Given the description of an element on the screen output the (x, y) to click on. 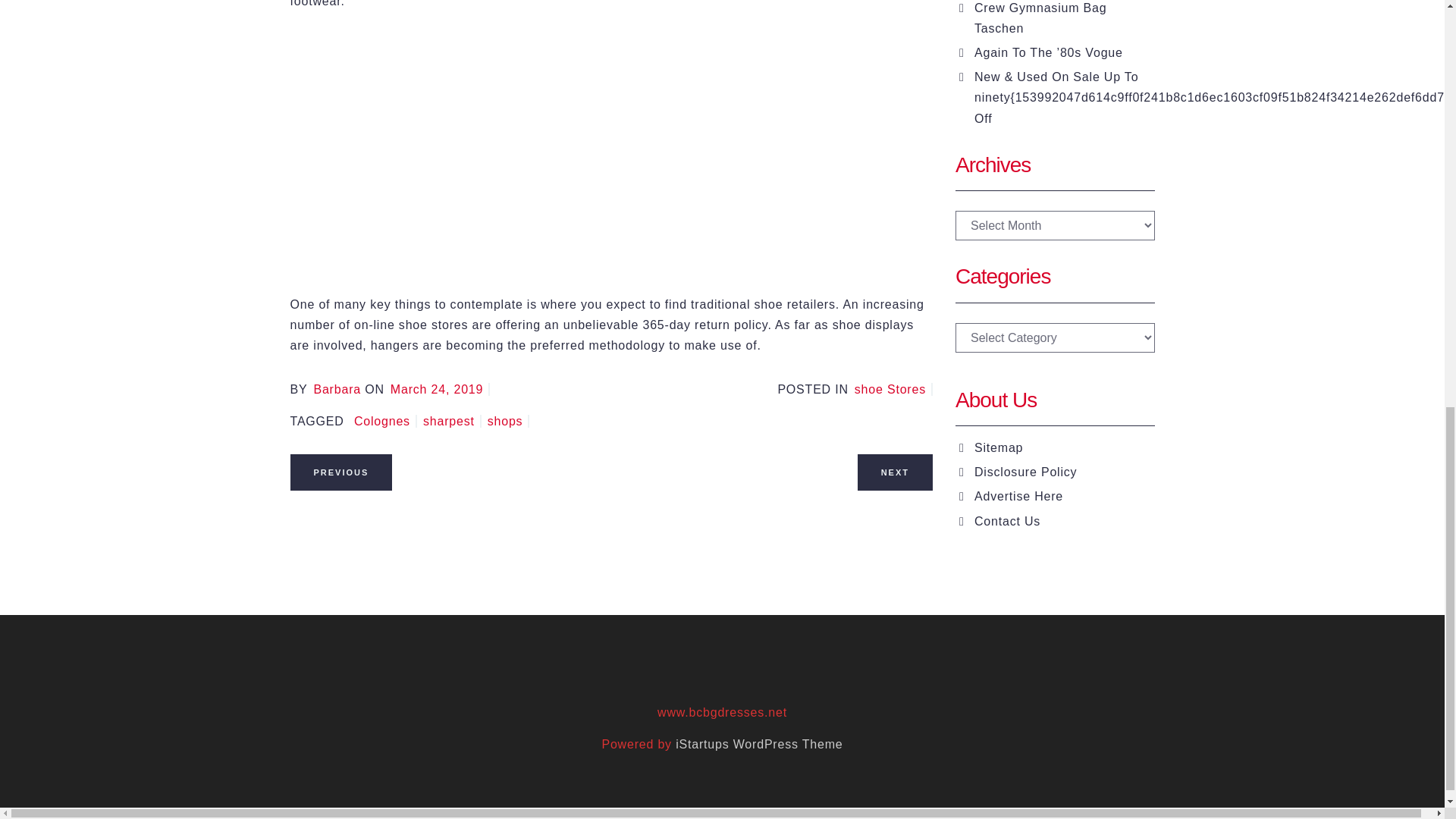
PREVIOUS (340, 471)
Shoe Stores (893, 389)
Sharpest (452, 420)
March 24, 2019 (439, 389)
Barbara (337, 389)
PREVIOUS (340, 472)
Colognes (384, 420)
NEXT (895, 471)
NEXT (895, 472)
Shops (508, 420)
